Given the description of an element on the screen output the (x, y) to click on. 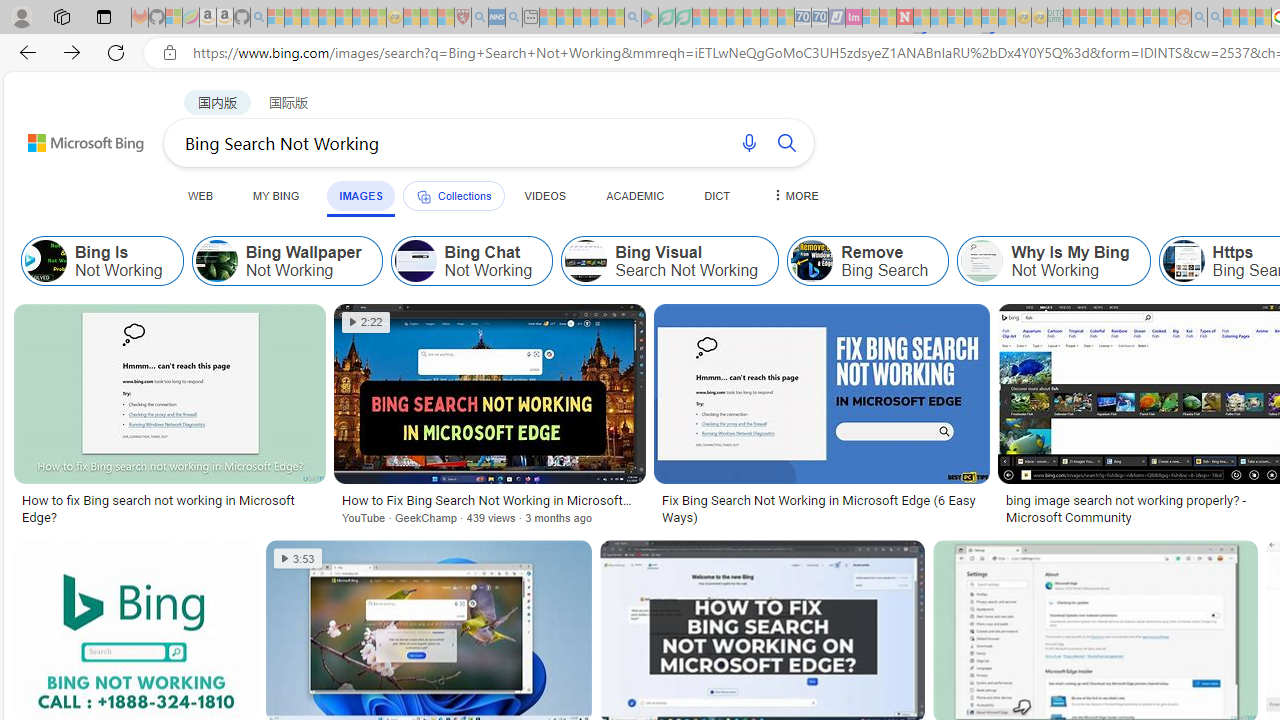
Bing Visual Search Not Working (586, 260)
Bing Is Not Working (45, 260)
Cheap Hotels - Save70.com - Sleeping (819, 17)
MSNBC - MSN - Sleeping (1071, 17)
Cheap Car Rentals - Save70.com - Sleeping (802, 17)
DICT (717, 195)
3:53 (297, 558)
Bing Visual Search Not Working (670, 260)
Forward (72, 52)
